Given the description of an element on the screen output the (x, y) to click on. 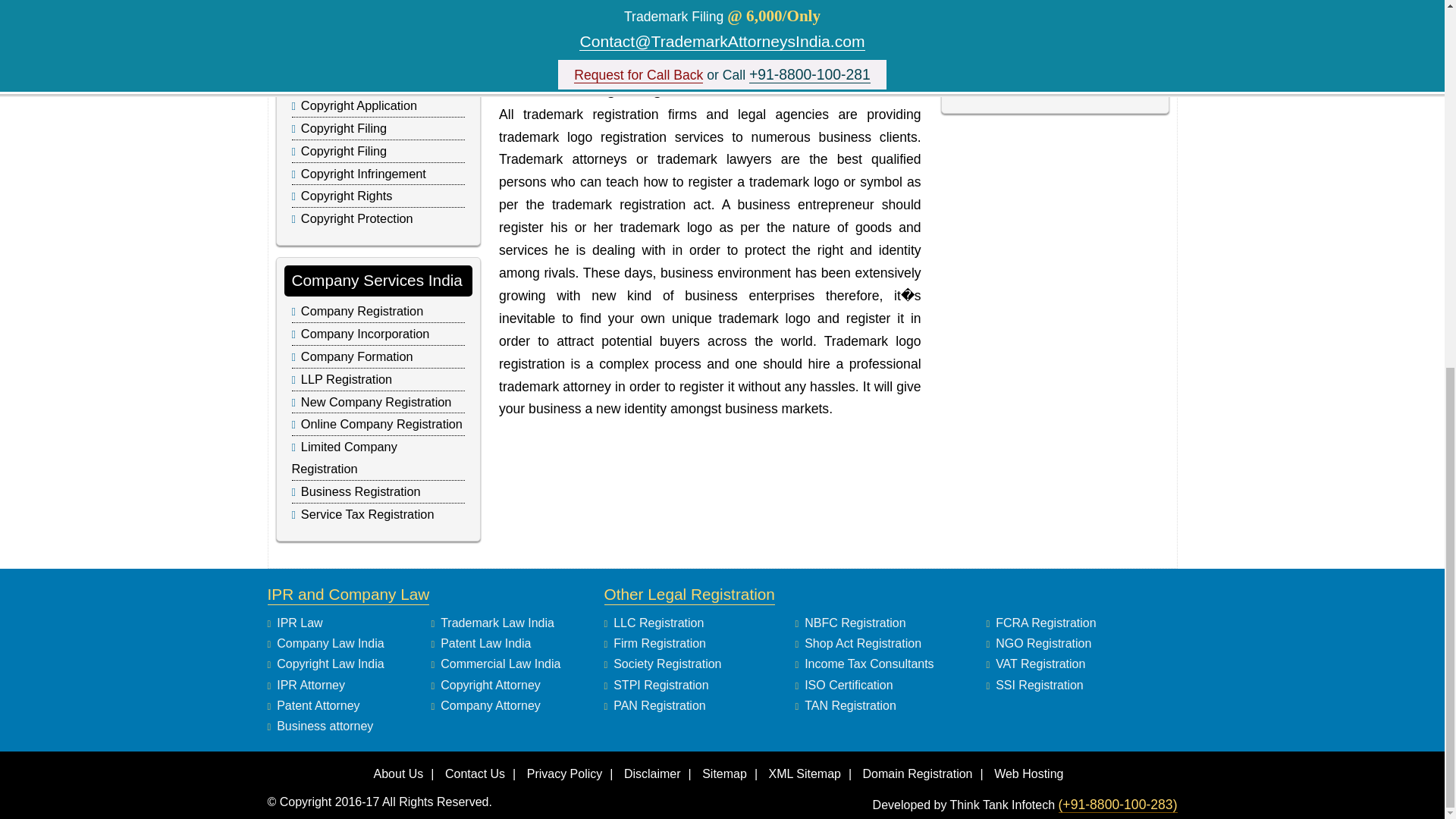
Patent Search (339, 14)
PCT Filing (329, 37)
Trademark Litigation Attorney (1046, 59)
Trademark Registration Attorney (1054, 8)
Trademark Infringement Attorney (1056, 33)
Trademark Agent (1013, 85)
Design Registration (355, 59)
